Given the description of an element on the screen output the (x, y) to click on. 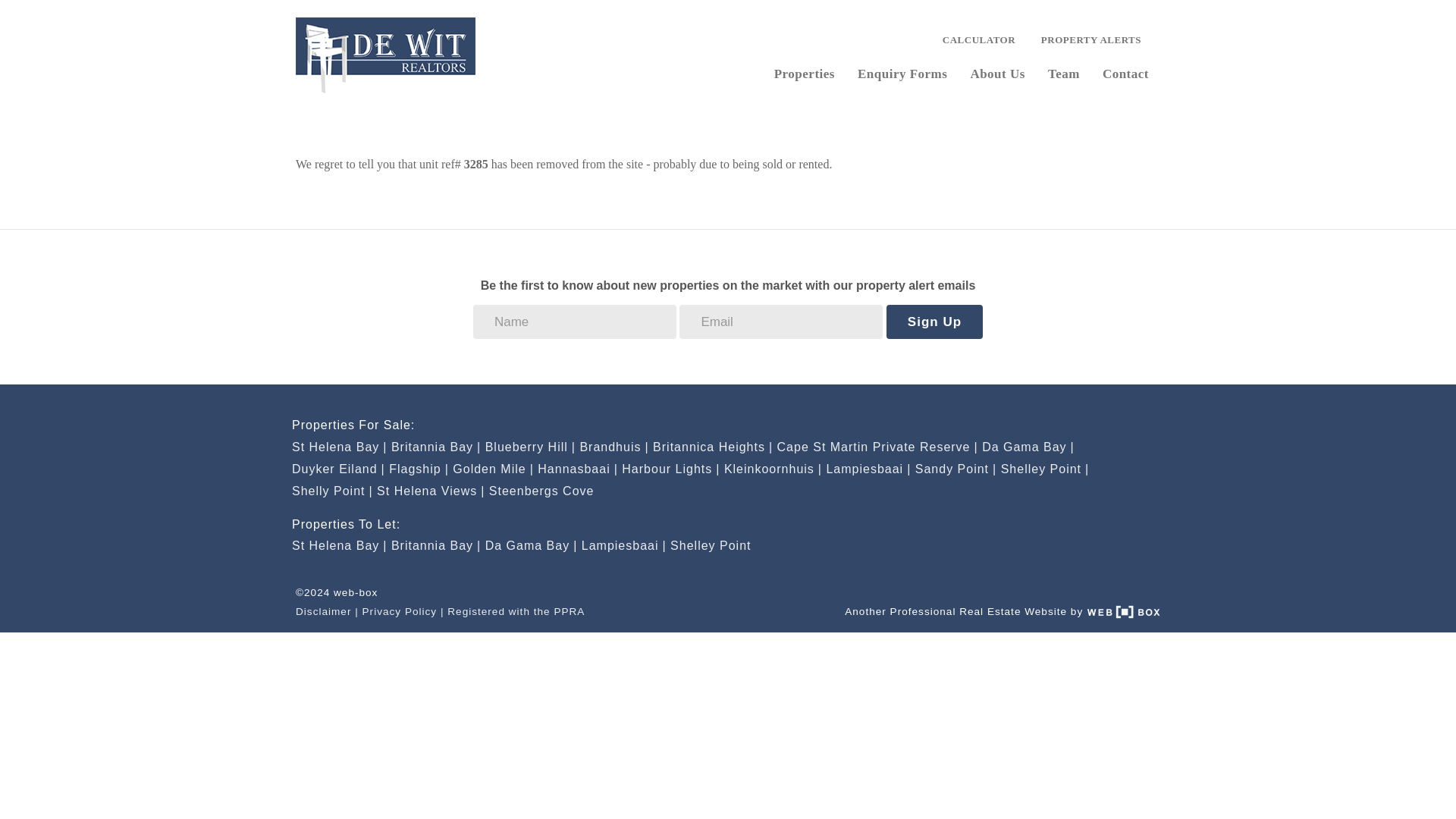
Properties for sale in Da Gama Bay, St Helena Bay (1027, 446)
Properties for sale in Sandy Point, St Helena Bay (955, 468)
Properties for sale in Brandhuis, St Helena Bay (613, 446)
Properties for sale in Britannia Bay (435, 446)
Properties for sale in Blueberry Hill, St Helena Bay (529, 446)
Properties for sale in Duyker Eiland, St Helena Bay (338, 468)
Properties for sale in Harbour Lights, St Helena Bay (670, 468)
Properties for sale in Britannica Heights, St Helena Bay (712, 446)
Properties (803, 72)
Properties for sale in Kleinkoornhuis, St Helena Bay (772, 468)
